Given the description of an element on the screen output the (x, y) to click on. 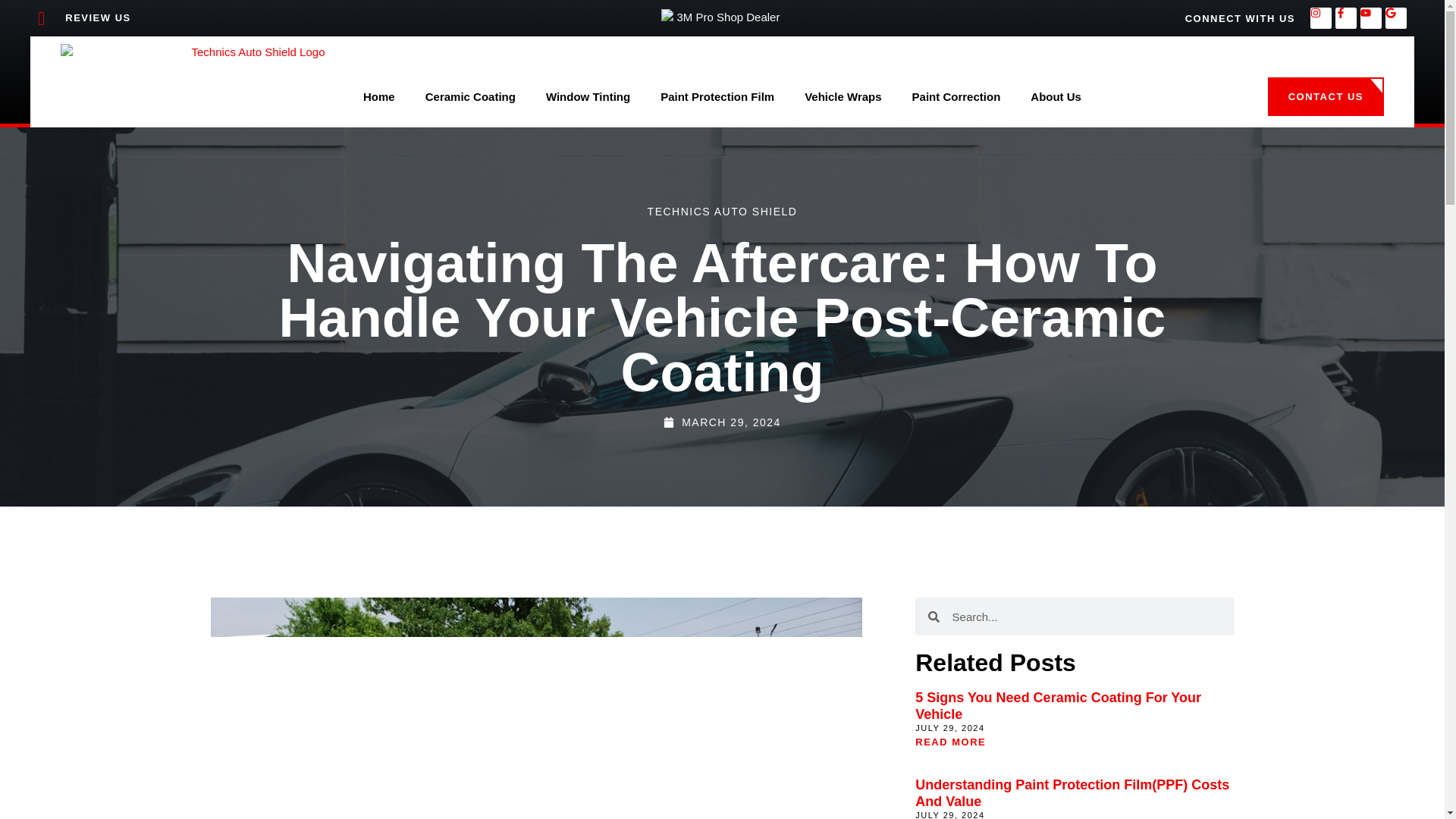
Home (378, 96)
Paint Correction (956, 96)
Window Tinting (588, 96)
Vehicle Wraps (842, 96)
About Us (1055, 96)
Ceramic Coating (470, 96)
Paint Protection Film (717, 96)
REVIEW US (260, 18)
